Given the description of an element on the screen output the (x, y) to click on. 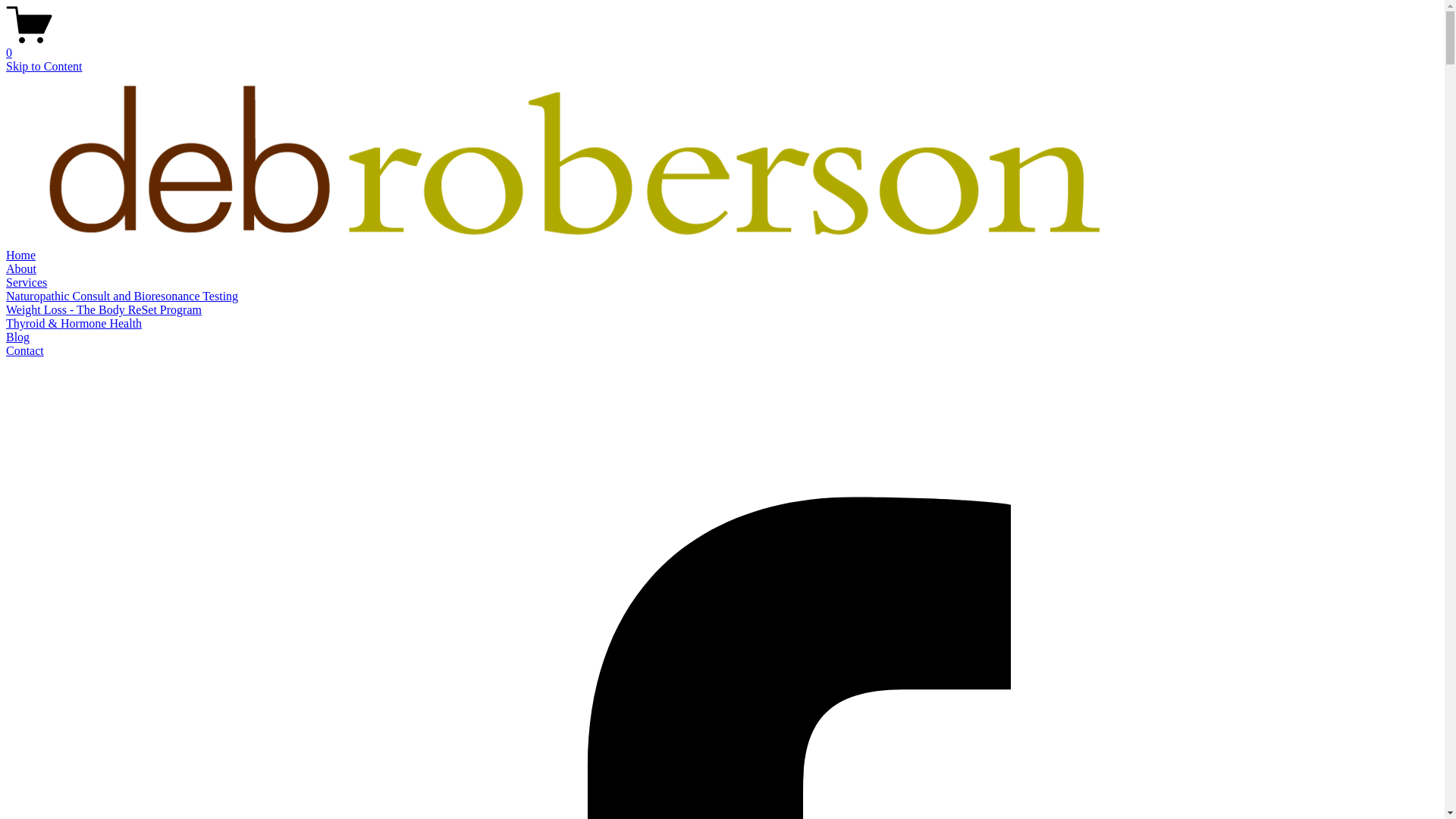
Services Element type: text (26, 282)
Skip to Content Element type: text (43, 65)
Naturopathic Consult and Bioresonance Testing Element type: text (122, 295)
0 Element type: text (722, 45)
Contact Element type: text (24, 350)
Thyroid & Hormone Health Element type: text (73, 322)
About Element type: text (21, 268)
Blog Element type: text (17, 336)
Home Element type: text (20, 254)
Weight Loss - The Body ReSet Program Element type: text (103, 309)
